Given the description of an element on the screen output the (x, y) to click on. 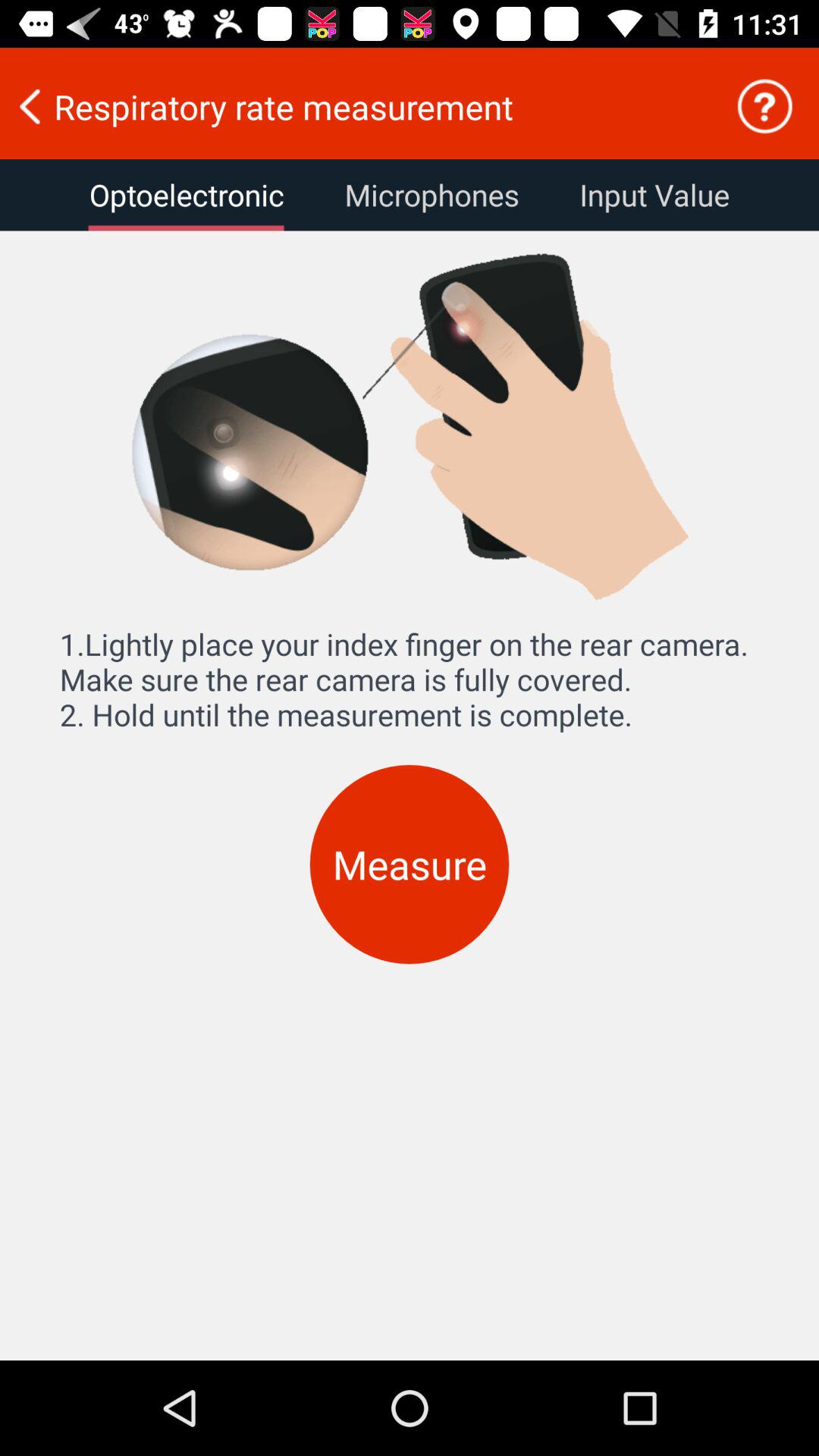
click measure icon (409, 864)
